Given the description of an element on the screen output the (x, y) to click on. 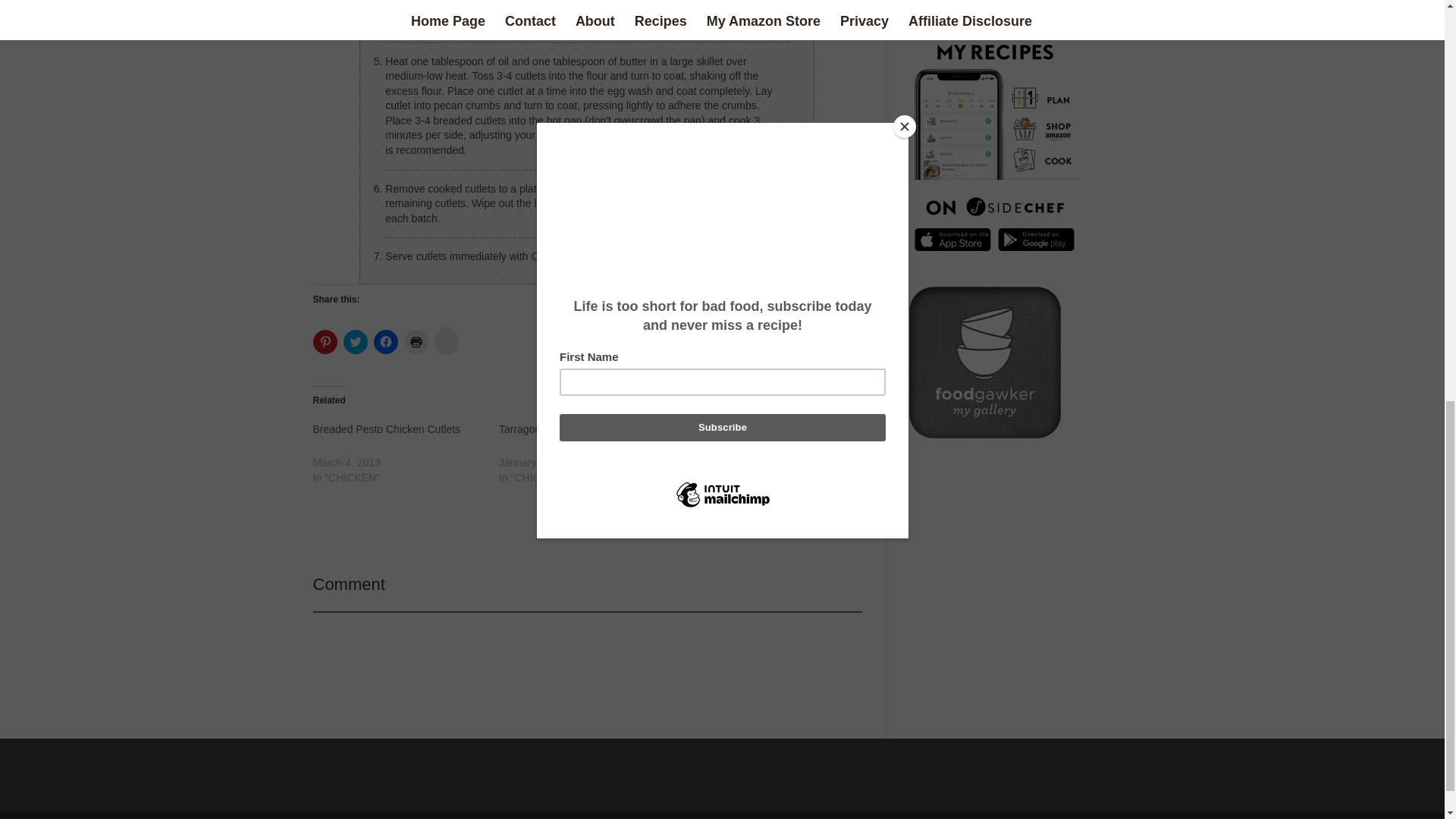
Click to print (415, 341)
Click to share on Facebook (384, 341)
Click to share on Pinterest (324, 341)
Tarragon Chicken Cutlets (591, 453)
Click to share on Twitter (354, 341)
Breaded Pesto Chicken Cutlets (386, 428)
Breaded Pesto Chicken Cutlets (405, 453)
Breaded Pesto Chicken Cutlets (386, 428)
Tarragon Chicken Cutlets (558, 428)
Dukkah Crusted Pork Cutlets (777, 453)
